Given the description of an element on the screen output the (x, y) to click on. 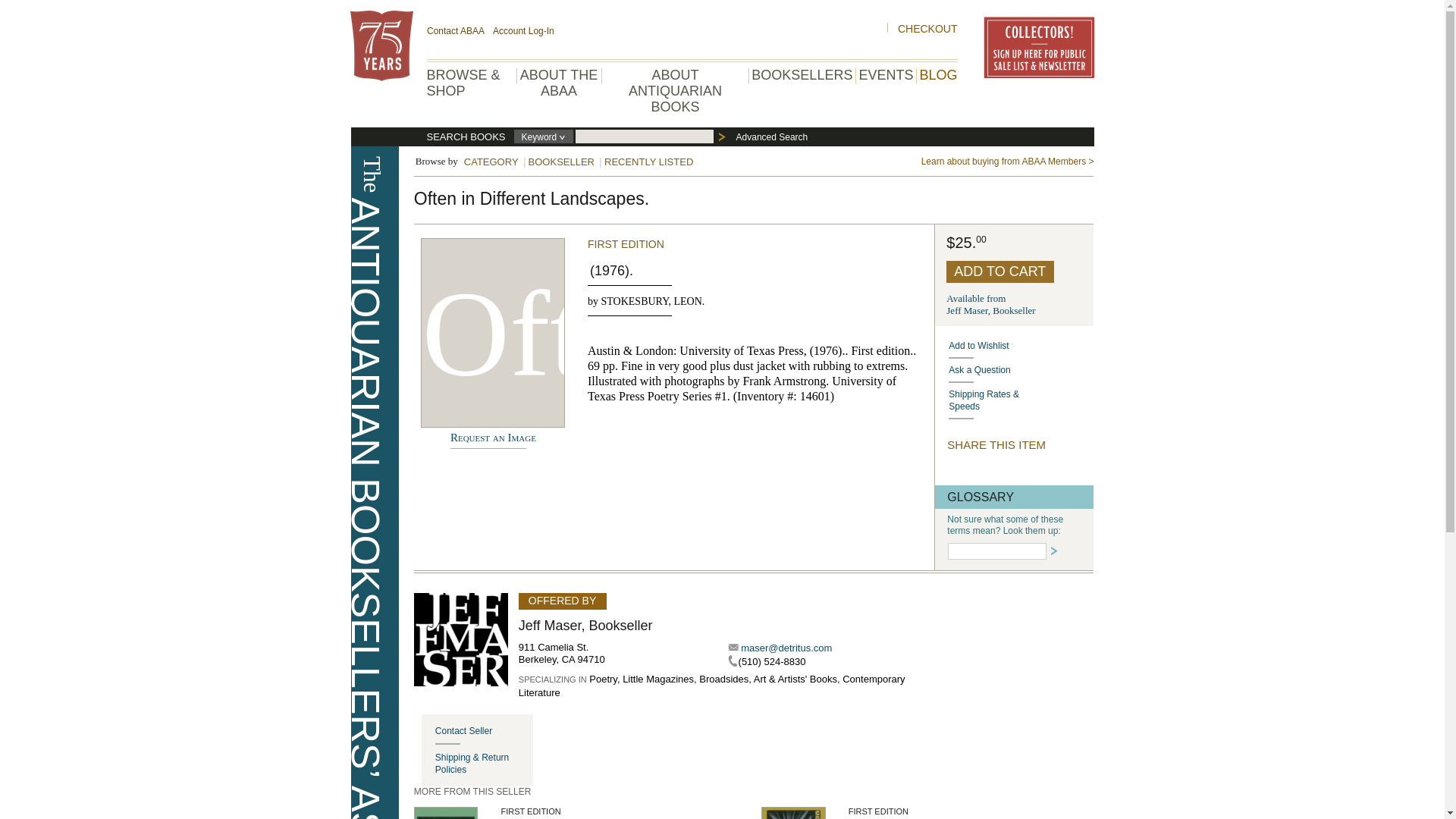
Skip to main content (990, 304)
CHECKOUT (8, 7)
BOOKSELLERS (928, 29)
ABOUT THE ABAA (801, 74)
Add to Wishlist (557, 82)
BOOKSELLER (1021, 345)
RECENTLY LISTED (561, 161)
Advanced Search (648, 161)
BLOG (772, 137)
Collectors! Sign up here for public sale list and newsletter (937, 74)
Contact Seller (1037, 46)
Ask a Question (483, 730)
CATEGORY (1021, 369)
EVENTS (492, 161)
